Given the description of an element on the screen output the (x, y) to click on. 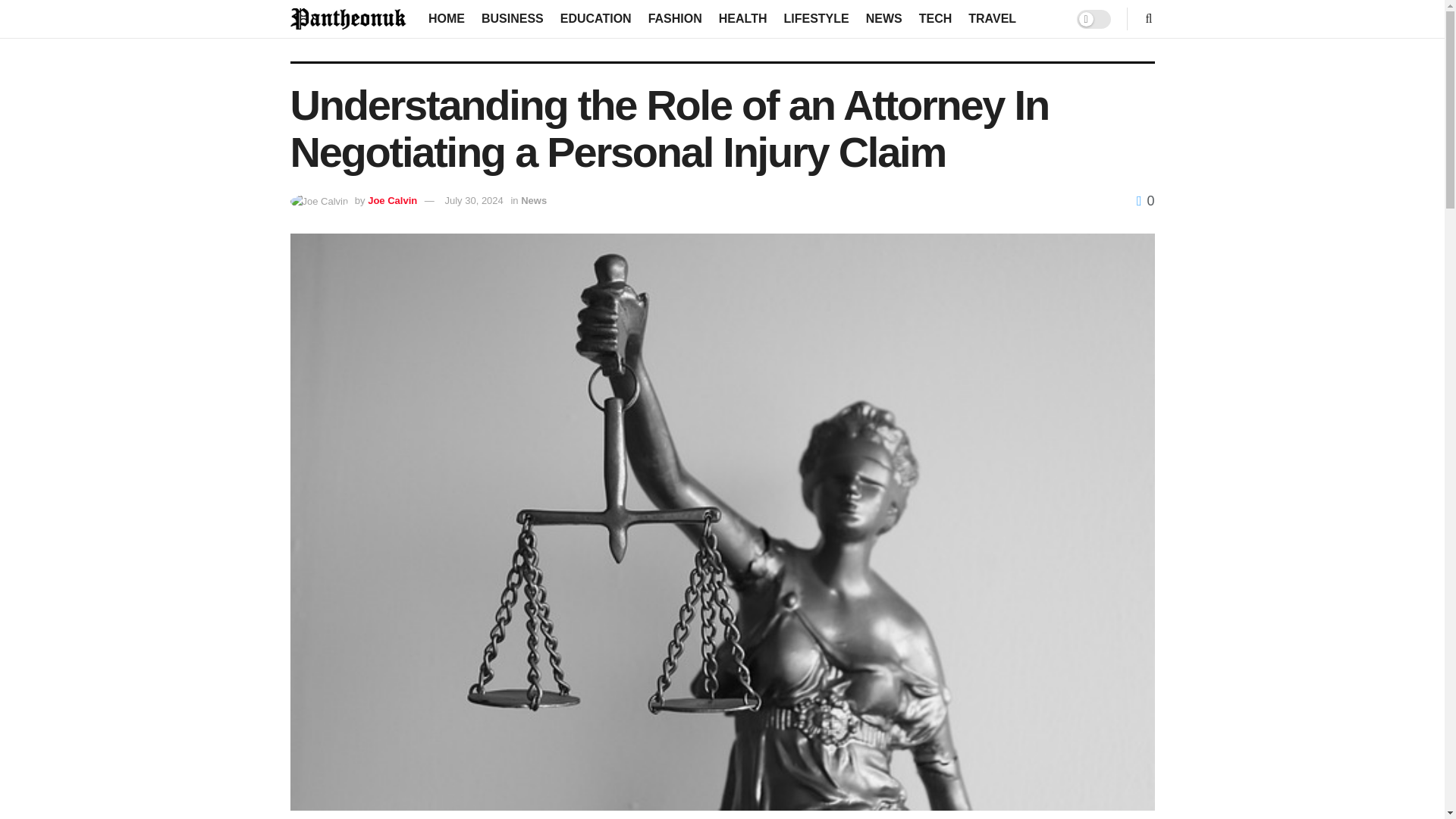
TRAVEL (992, 18)
0 (1145, 200)
July 30, 2024 (473, 200)
HOME (446, 18)
BUSINESS (512, 18)
FASHION (674, 18)
TECH (935, 18)
LIFESTYLE (815, 18)
HEALTH (743, 18)
News (534, 200)
